Given the description of an element on the screen output the (x, y) to click on. 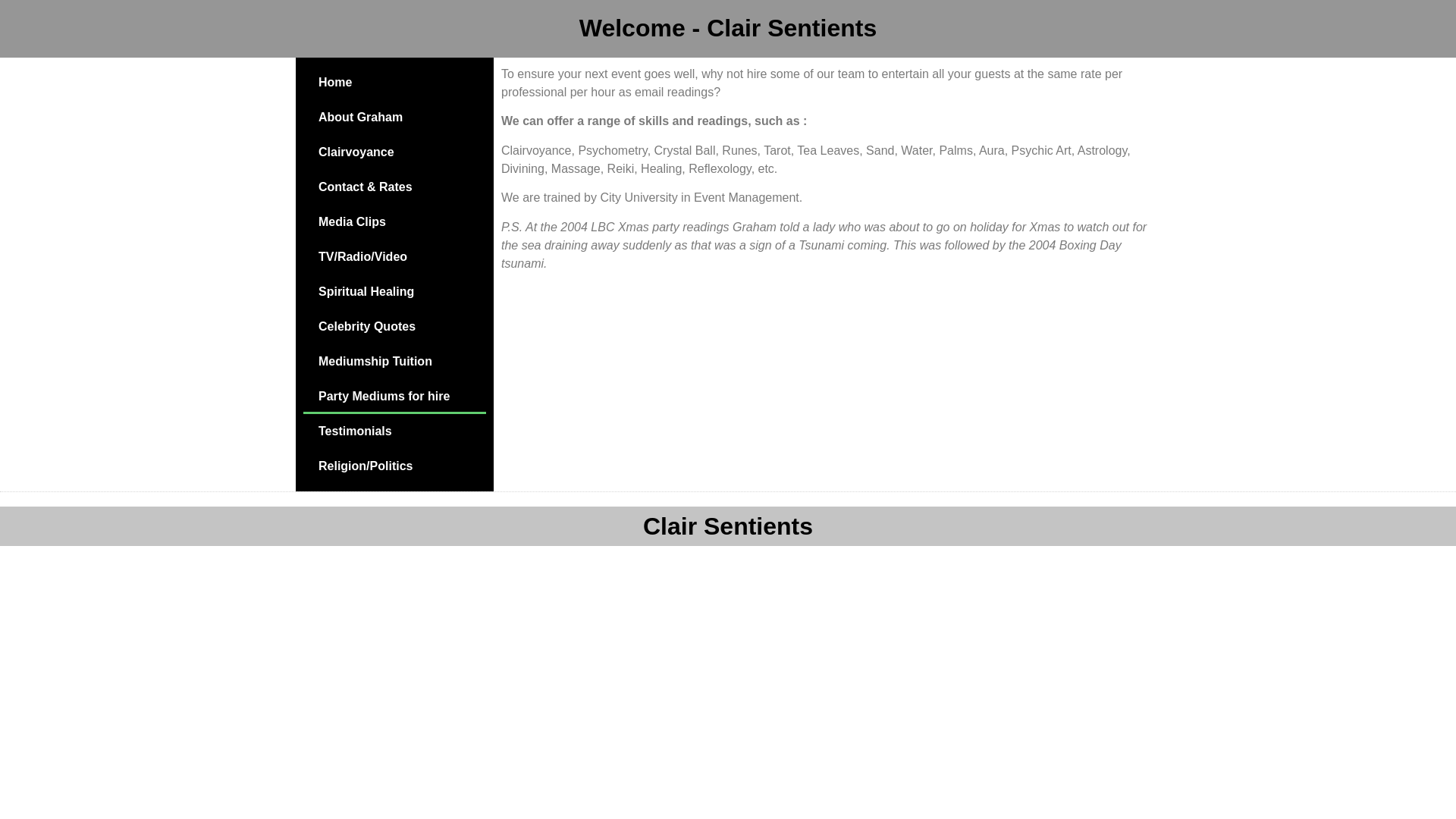
Clairvoyance (394, 152)
Celebrity Quotes (394, 326)
Party Mediums for hire (394, 396)
Spiritual Healing (394, 291)
Mediumship Tuition (394, 361)
Media Clips (394, 221)
Testimonials (394, 431)
About Graham (394, 117)
Home (394, 82)
